Given the description of an element on the screen output the (x, y) to click on. 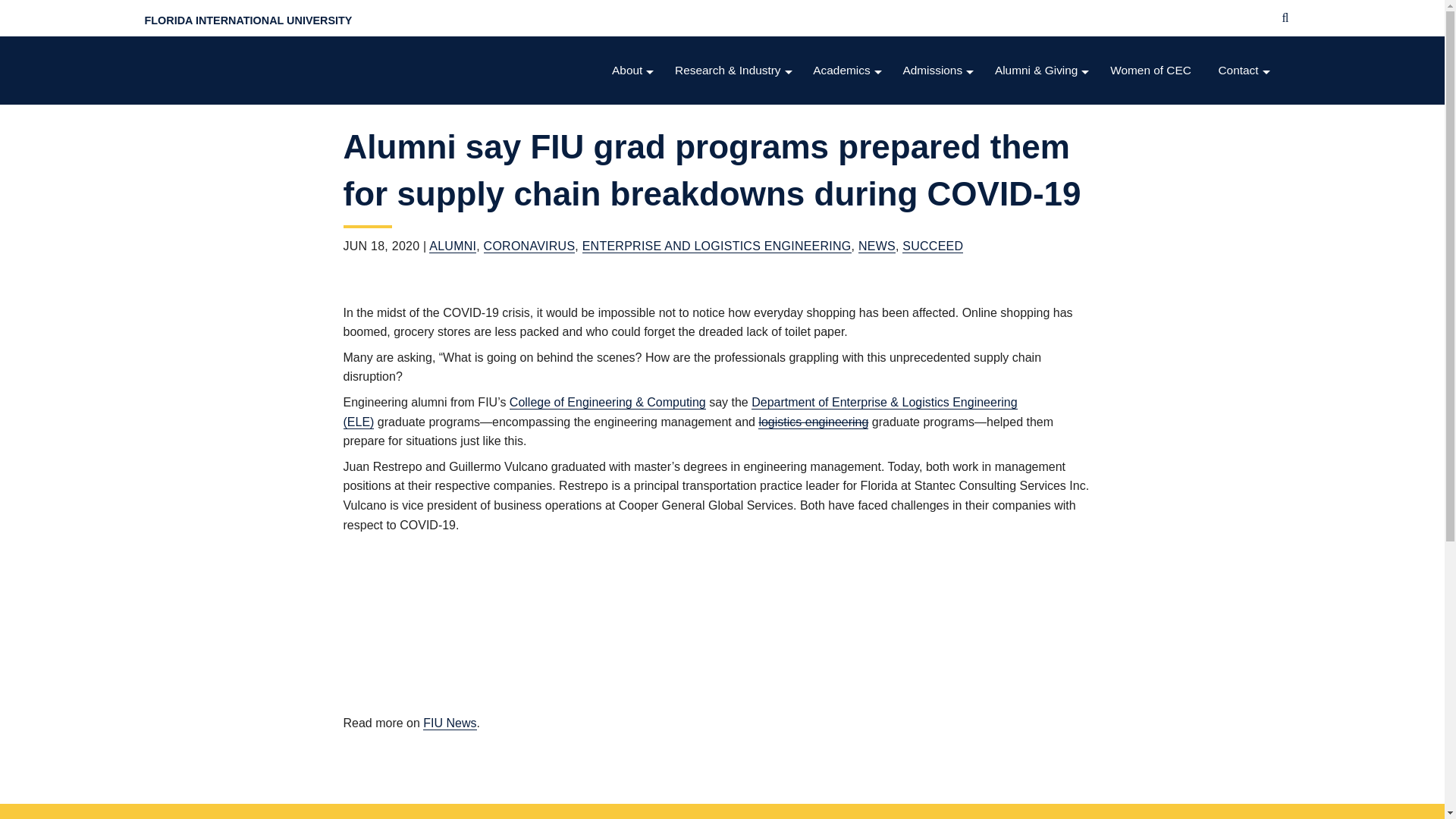
Newsletters and Brochures (633, 223)
Highlighted Research Areas (734, 100)
FIU College of Engineering and Computing (269, 70)
Annual Giving (1042, 131)
Research Portal (734, 283)
Admissions (939, 70)
Preeminent Programs (734, 162)
Endowed Gifts (1042, 162)
Give Now (1042, 192)
FLORIDA INTERNATIONAL UNIVERSITY (248, 20)
Vision and Mission (633, 100)
Faculty and Staff Positions (848, 313)
Annual Reports (633, 253)
College Administration (633, 162)
Research News (734, 313)
